Given the description of an element on the screen output the (x, y) to click on. 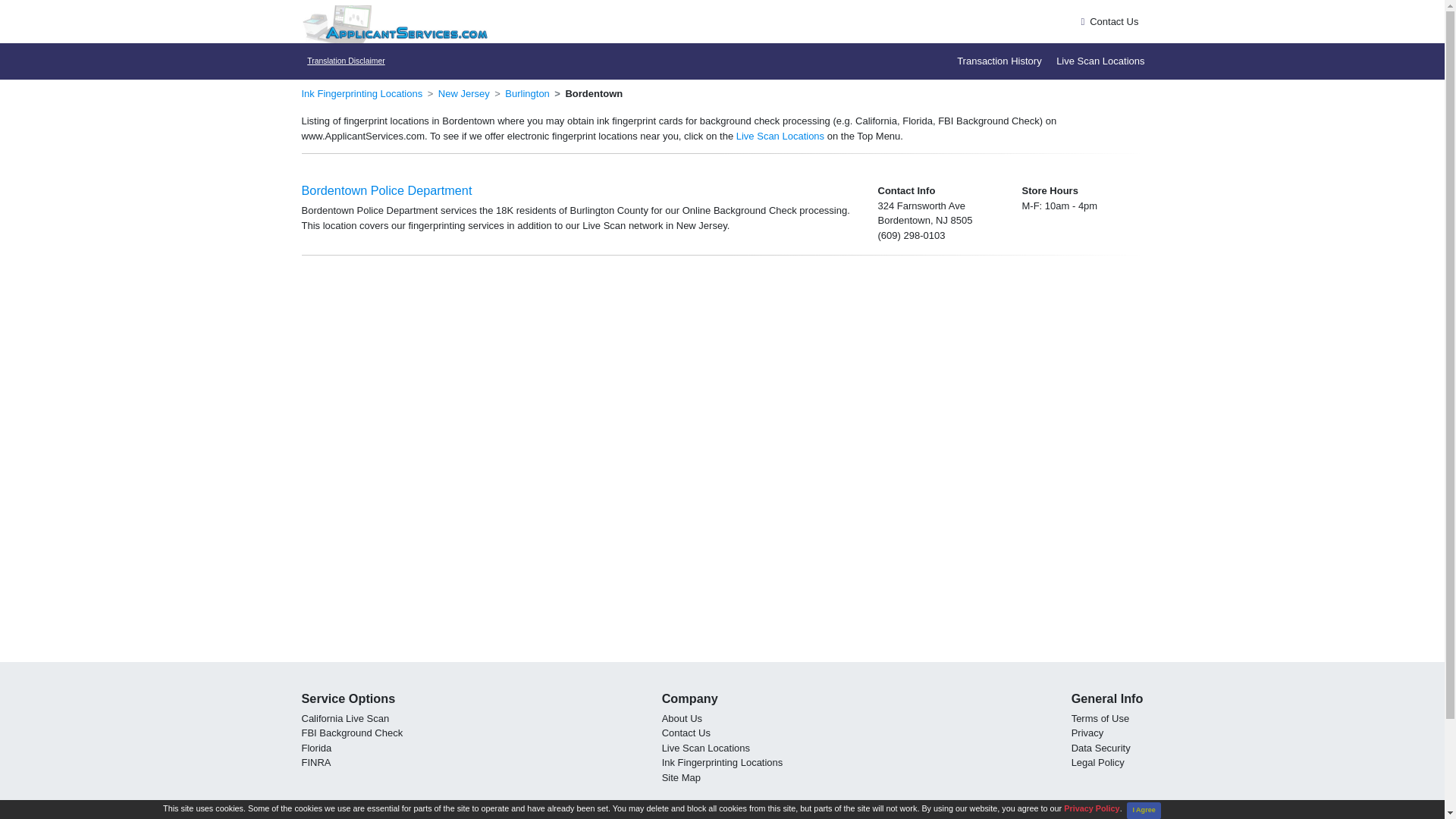
California Live Scan (345, 717)
FINRA (316, 762)
Contact Us (1113, 20)
About Us (681, 717)
Bordentown Police Department (386, 190)
Terms of Use (1100, 717)
Contact Us (686, 732)
About Us (681, 717)
Legal Policy (1097, 762)
FBI Background Check (352, 732)
Contact Us (1113, 20)
Contact Us (686, 732)
Transaction History (997, 60)
Privacy (1087, 732)
New Jersey (463, 93)
